Given the description of an element on the screen output the (x, y) to click on. 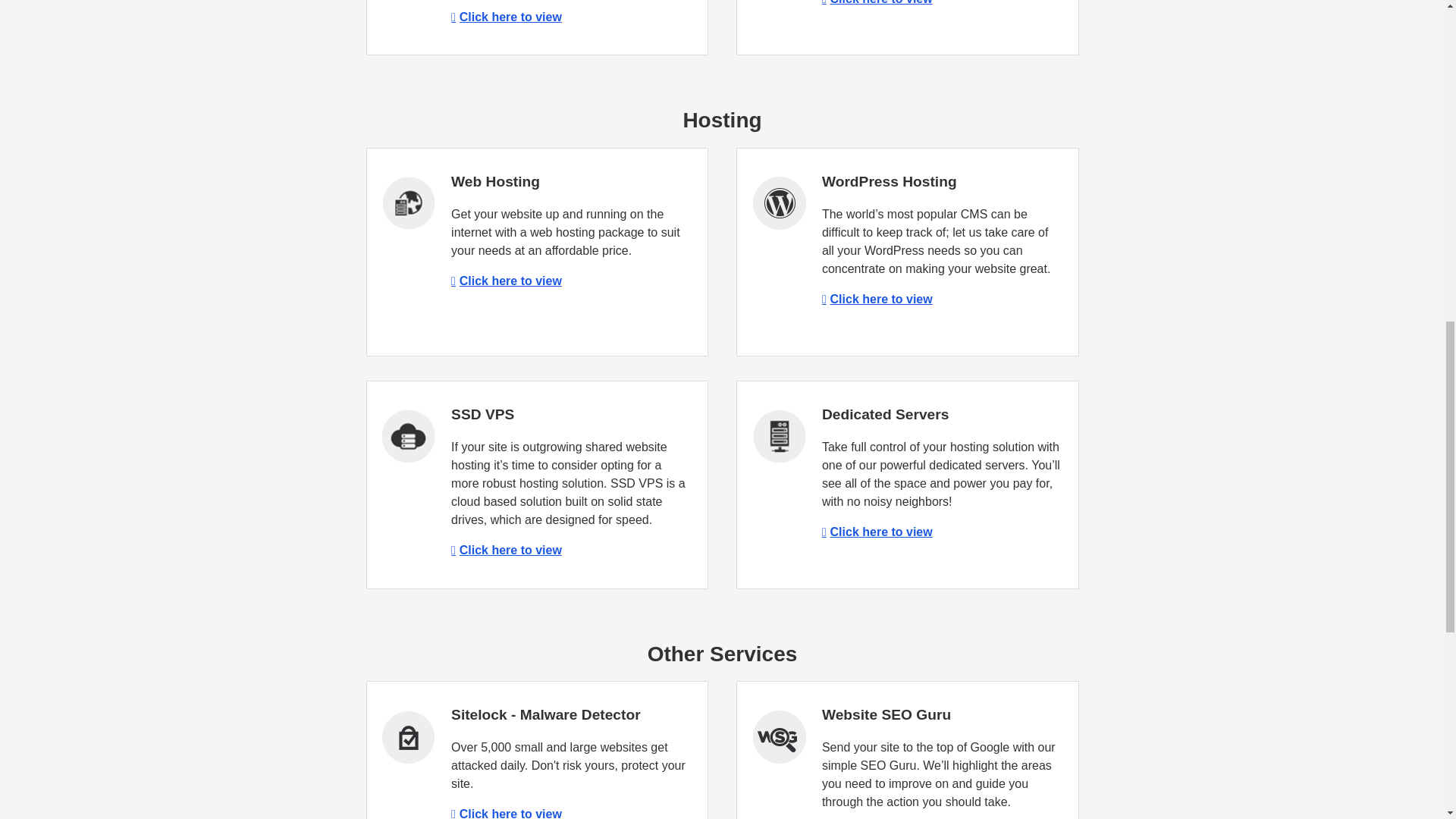
Click here to view (877, 2)
Click here to view (506, 280)
Click here to view (877, 531)
Click here to view (506, 813)
Click here to view (506, 16)
Click here to view (877, 298)
Click here to view (506, 549)
